Given the description of an element on the screen output the (x, y) to click on. 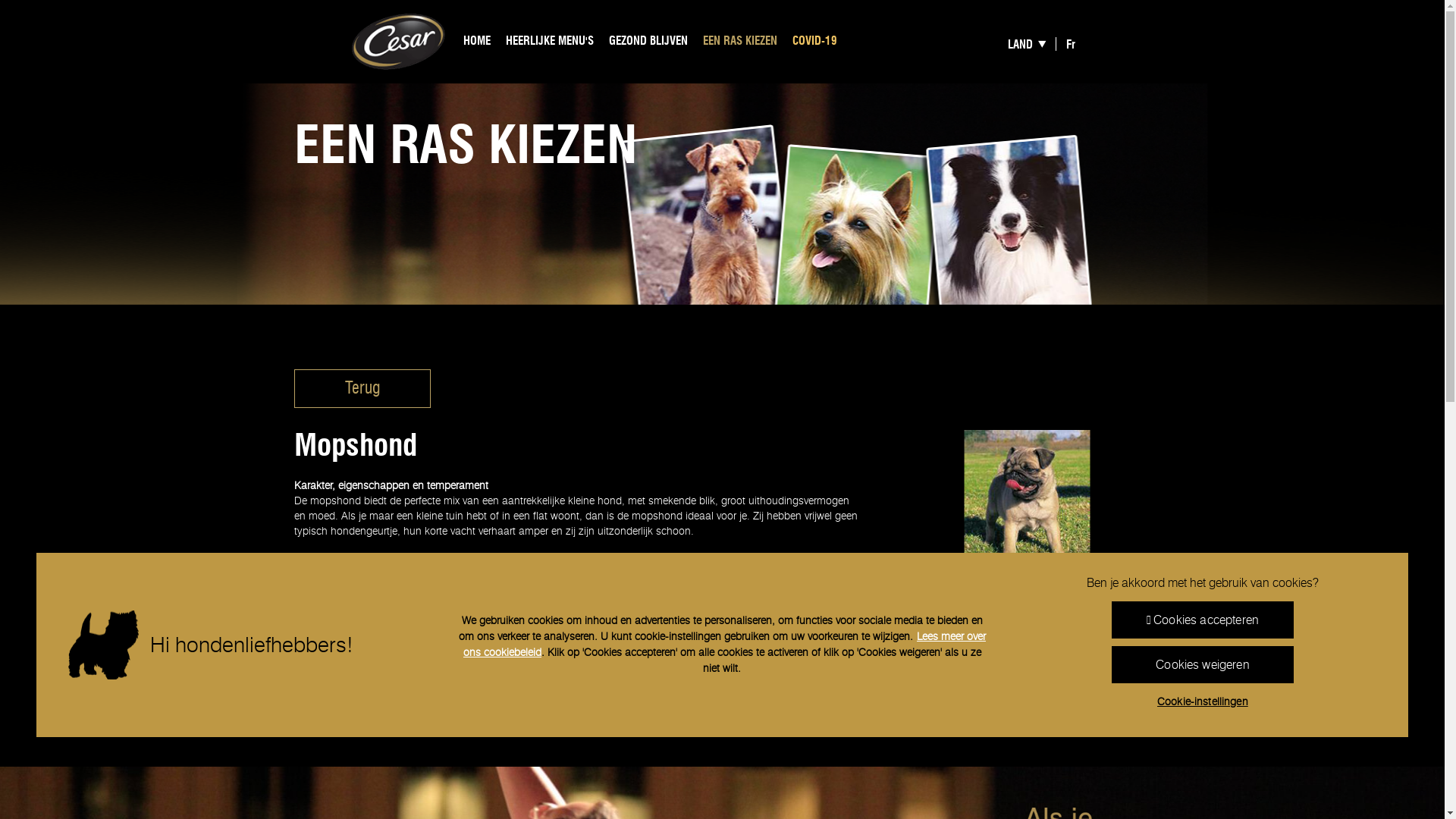
Cookie-instellingen Element type: text (1202, 702)
Terug Element type: text (362, 388)
Fr Element type: text (1070, 43)
GEZOND BLIJVEN Element type: text (648, 41)
Lees meer over ons cookiebeleid
(opens in a new tab) Element type: text (724, 644)
LAND Element type: text (1031, 43)
HOME Element type: text (476, 41)
Cookies weigeren Element type: text (1202, 664)
COVID-19 Element type: text (814, 41)
Cookies accepteren Element type: text (1202, 619)
EEN RAS KIEZEN Element type: text (739, 41)
HEERLIJKE MENU'S Element type: text (549, 41)
Home Element type: hover (398, 40)
